Given the description of an element on the screen output the (x, y) to click on. 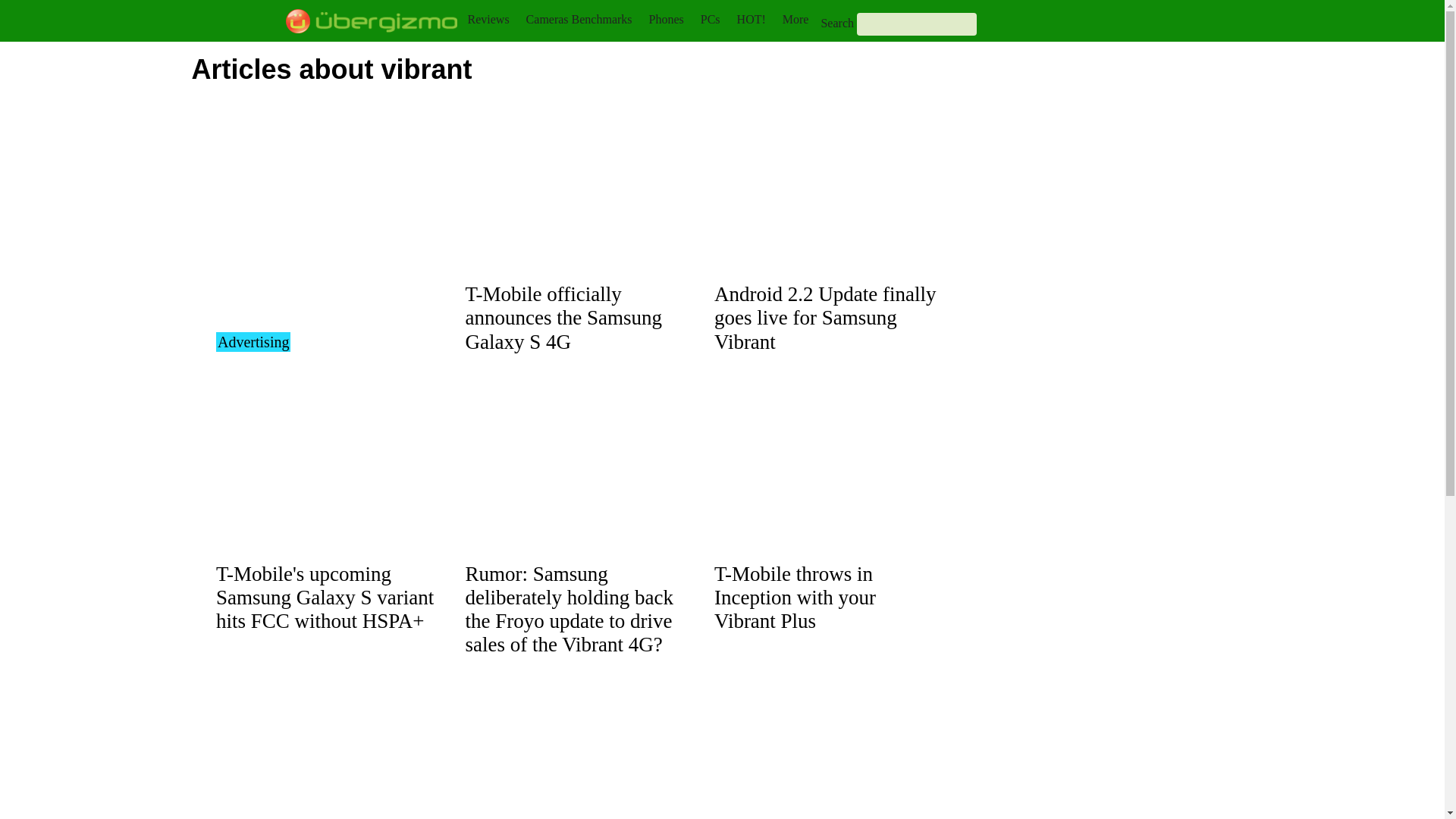
Cameras Benchmarks (578, 19)
T-Mobile (324, 597)
Phones (666, 19)
Reviews (487, 19)
PCs (710, 19)
